Given the description of an element on the screen output the (x, y) to click on. 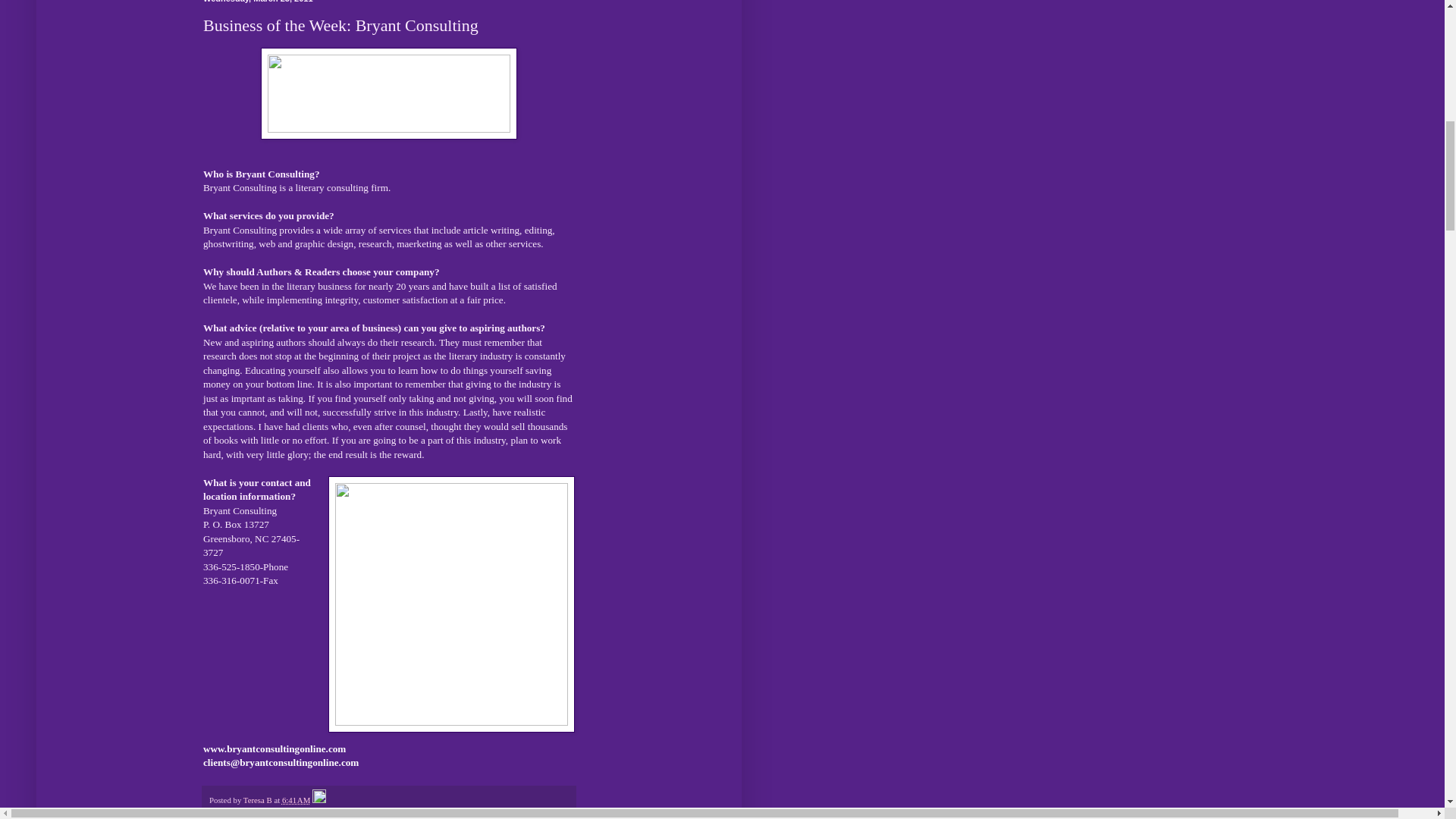
author profile (259, 799)
Email This (226, 812)
Share to Twitter (304, 812)
Share to Facebook (360, 812)
Share to Pinterest (420, 812)
www.bryantconsultingonline.com (274, 748)
Teresa B (259, 799)
BlogThis! (261, 812)
Share to Pinterest (420, 812)
BlogThis! (261, 812)
Share to Facebook (360, 812)
Email This (226, 812)
permanent link (296, 799)
Share to Twitter (304, 812)
